Given the description of an element on the screen output the (x, y) to click on. 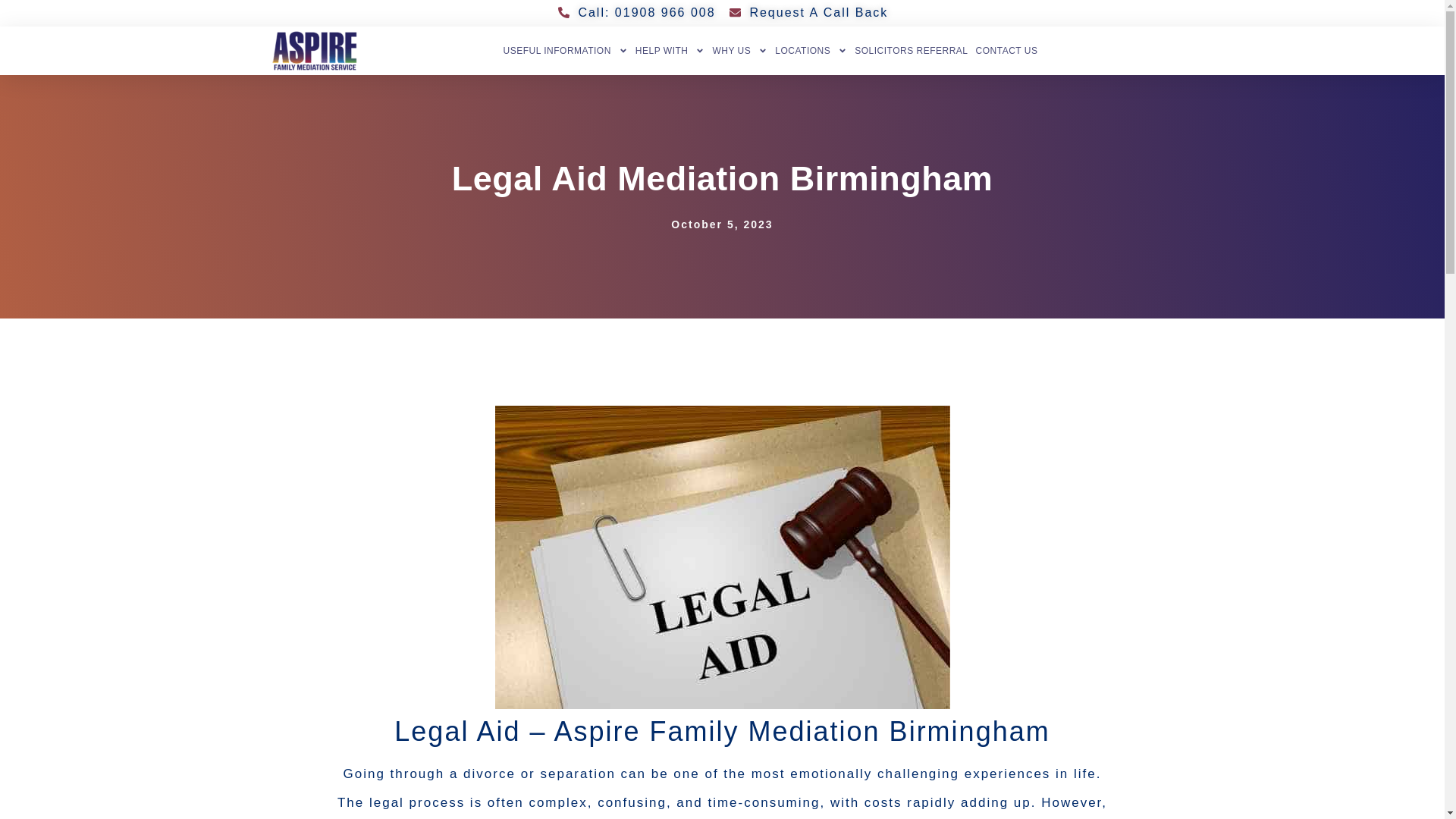
HELP WITH (670, 50)
LOCATIONS (810, 50)
Request A Call Back (808, 12)
Call: 01908 966 008 (636, 12)
USEFUL INFORMATION (564, 50)
WHY US (739, 50)
